Given the description of an element on the screen output the (x, y) to click on. 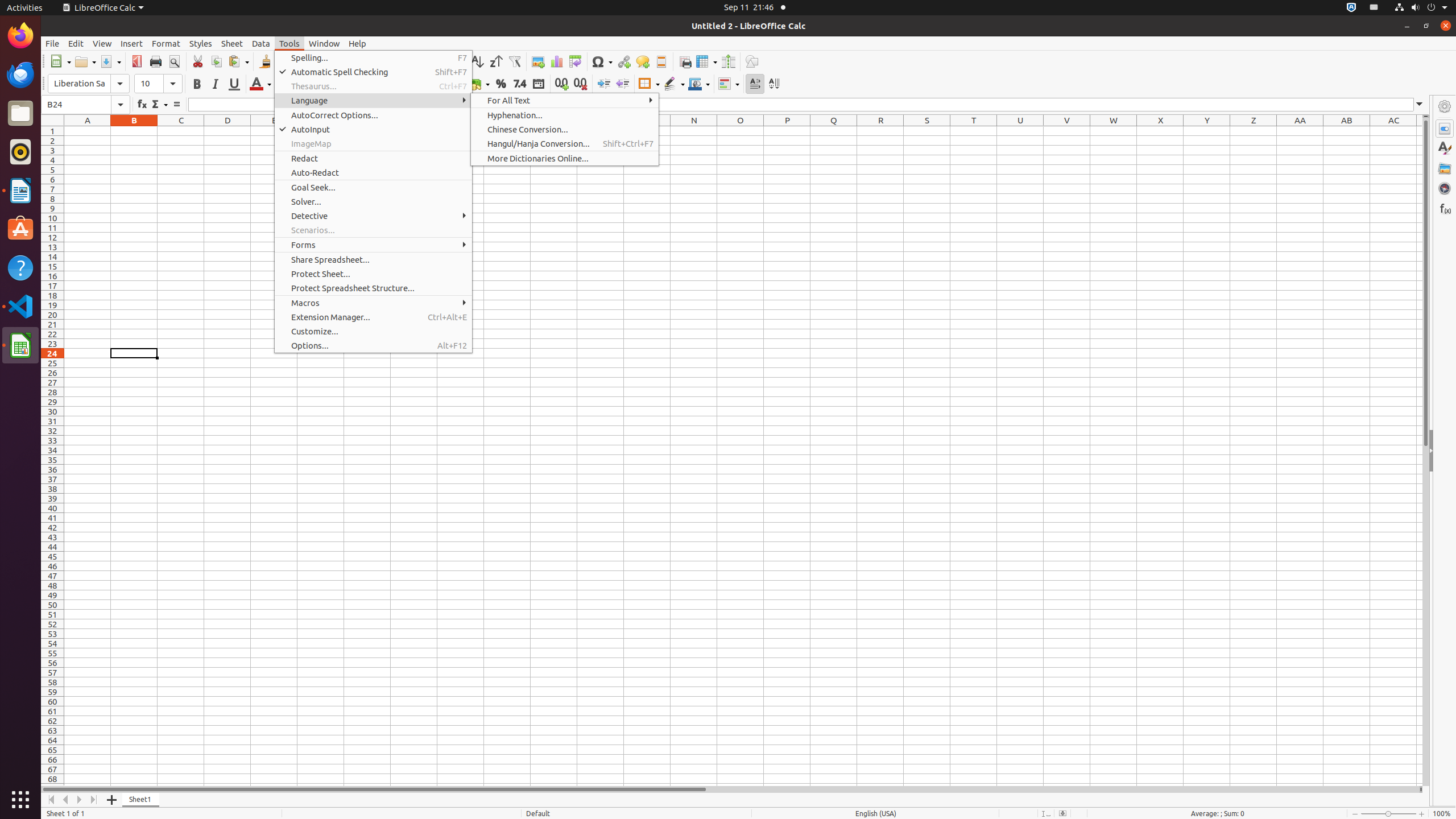
Print Element type: push-button (155, 61)
PDF Element type: push-button (136, 61)
H1 Element type: table-cell (413, 130)
AD1 Element type: table-cell (1419, 130)
